Given the description of an element on the screen output the (x, y) to click on. 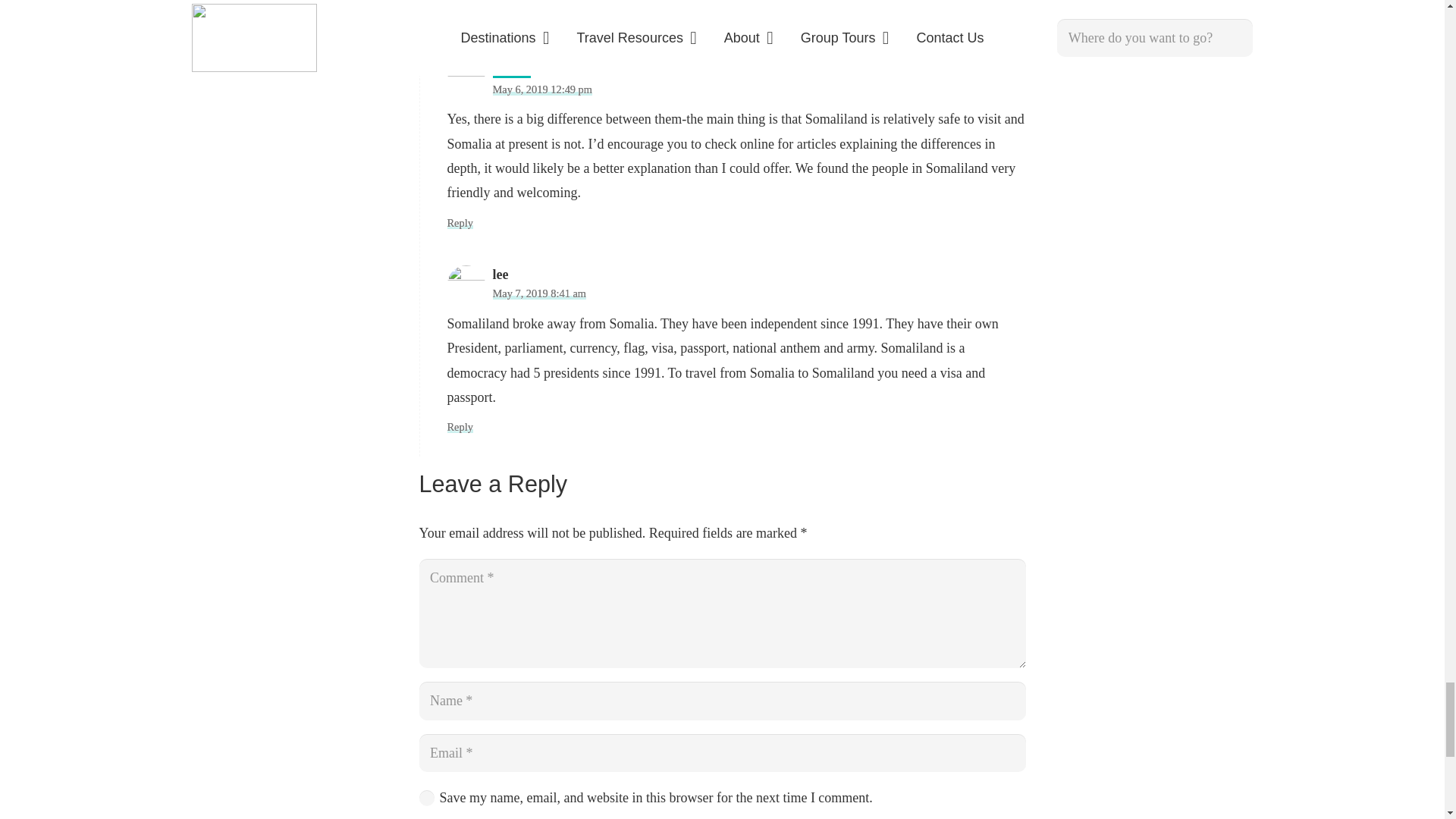
1 (426, 797)
May 6, 2019 12:49 pm (542, 89)
May 7, 2019 8:41 am (539, 293)
